Given the description of an element on the screen output the (x, y) to click on. 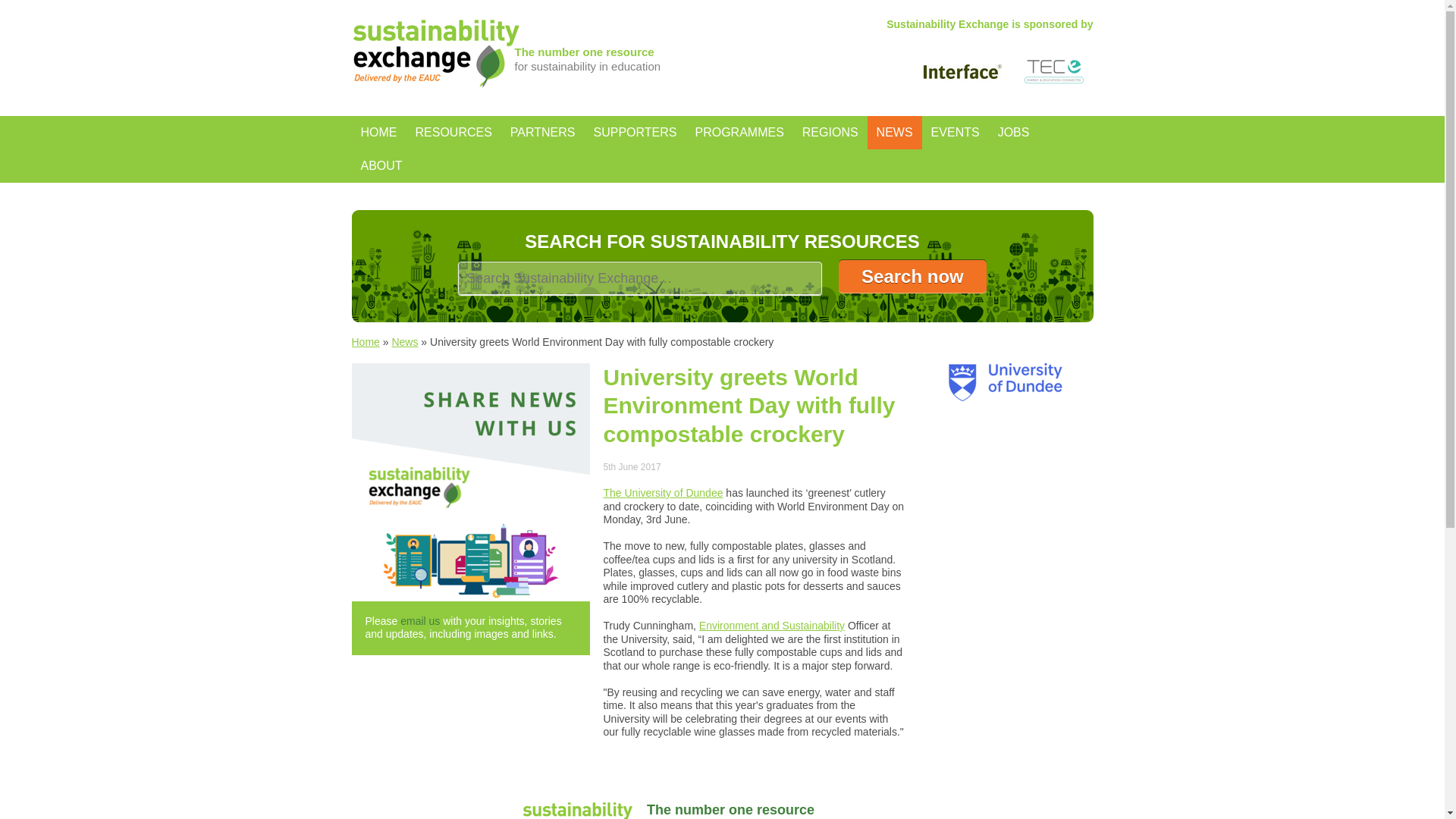
Search now (912, 275)
RESOURCES (453, 131)
HOME (379, 131)
PARTNERS (542, 131)
